Given the description of an element on the screen output the (x, y) to click on. 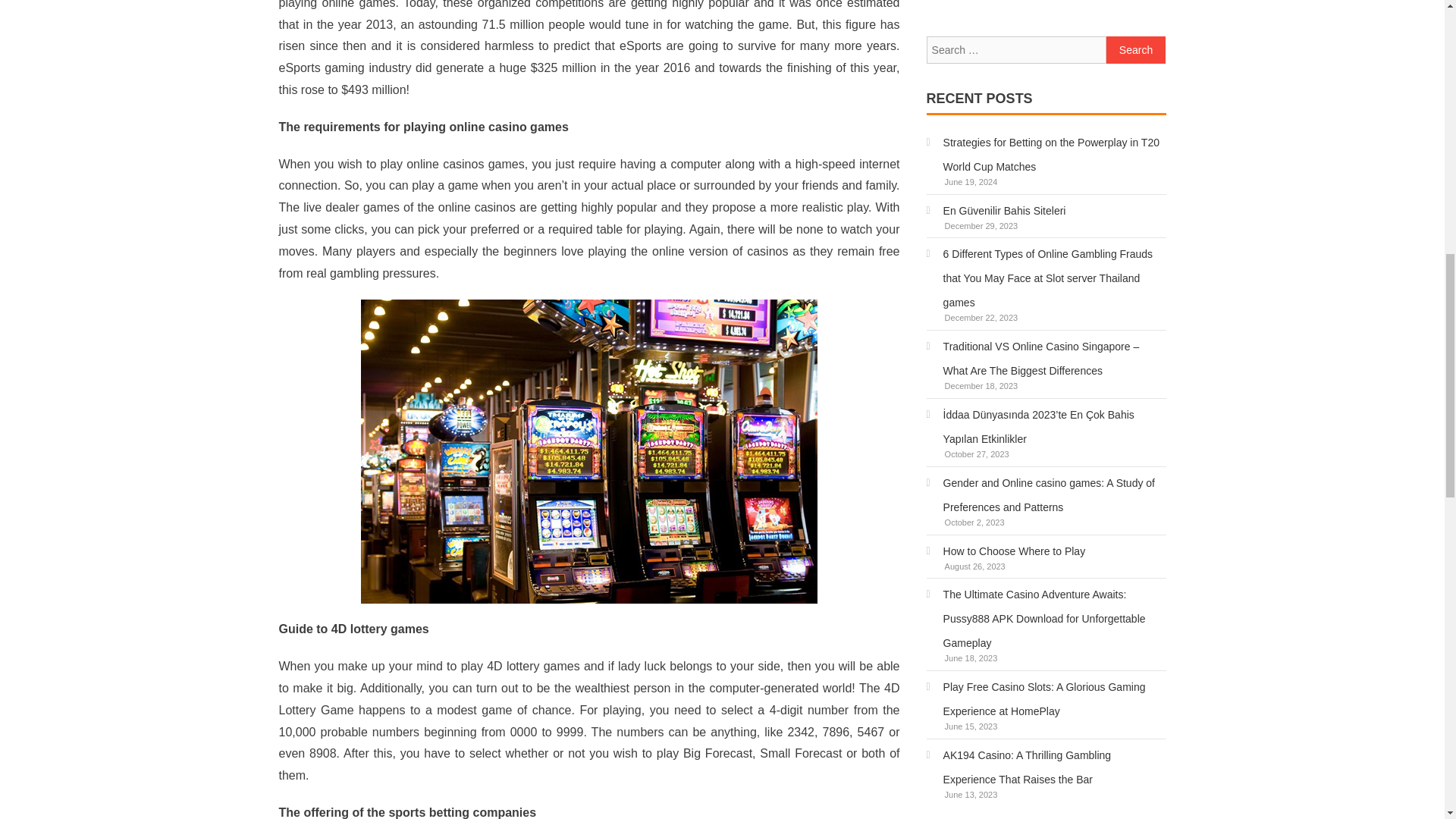
Search (1136, 49)
Search (1136, 49)
